Given the description of an element on the screen output the (x, y) to click on. 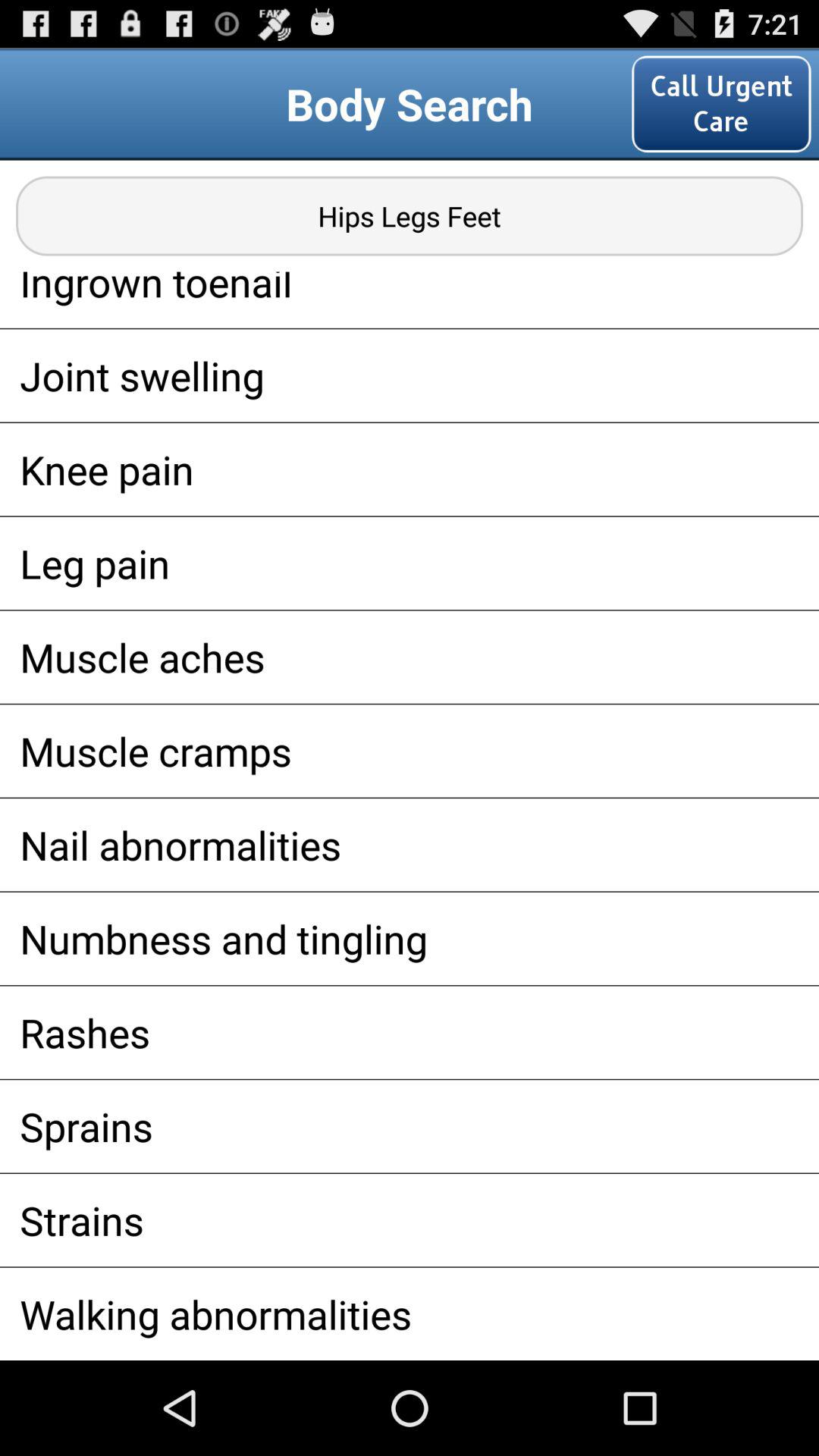
click the ingrown toenail (409, 299)
